Given the description of an element on the screen output the (x, y) to click on. 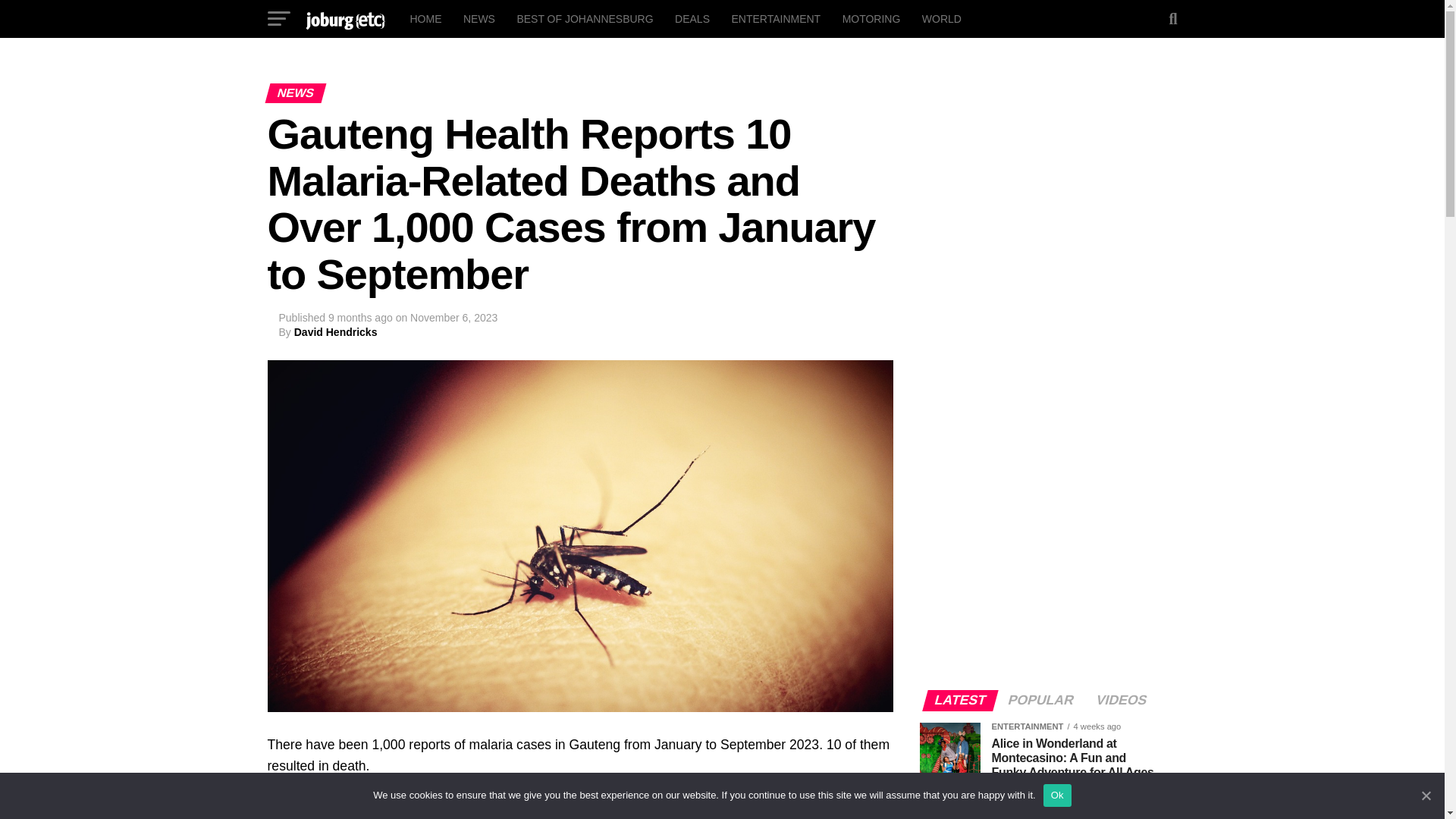
NEWS (478, 18)
BEST OF JOHANNESBURG (584, 18)
DEALS (692, 18)
ENTERTAINMENT (775, 18)
MOTORING (871, 18)
WORLD (941, 18)
HOME (424, 18)
